Given the description of an element on the screen output the (x, y) to click on. 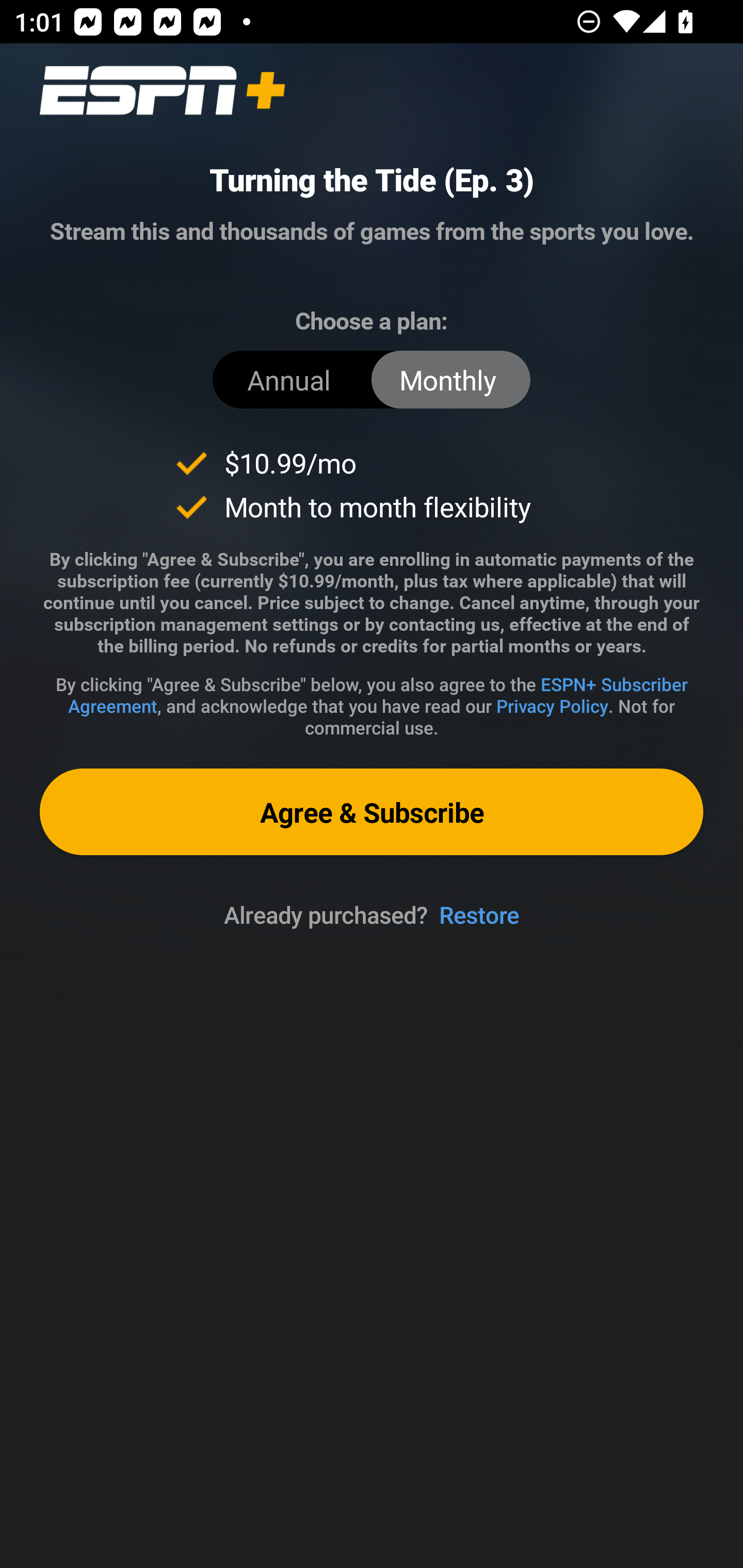
Agree & Subscribe (371, 811)
